Given the description of an element on the screen output the (x, y) to click on. 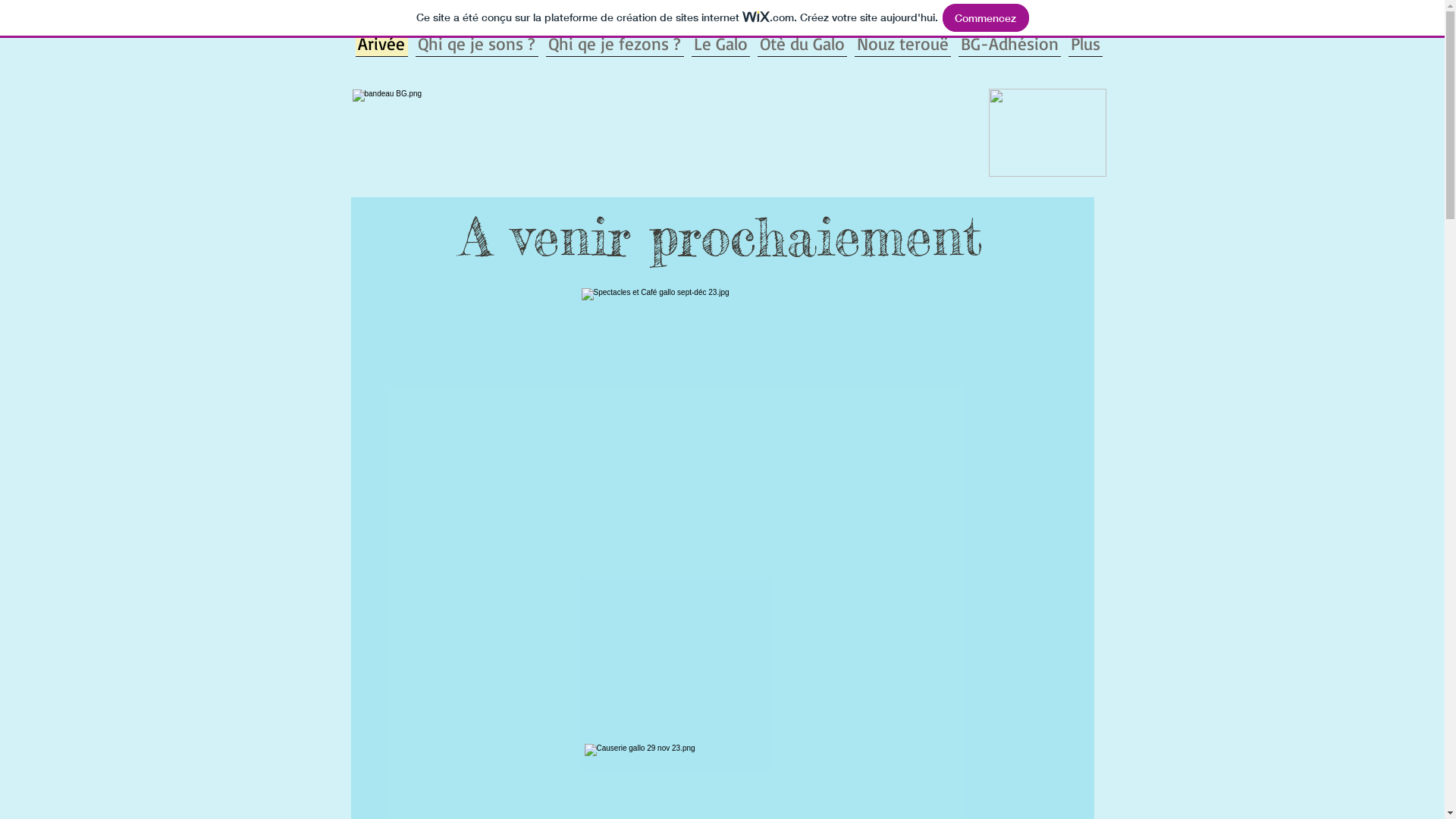
Le Galo Element type: text (720, 41)
Qhi qe je sons ? Element type: text (476, 41)
Qhi qe je fezons ? Element type: text (614, 41)
